Given the description of an element on the screen output the (x, y) to click on. 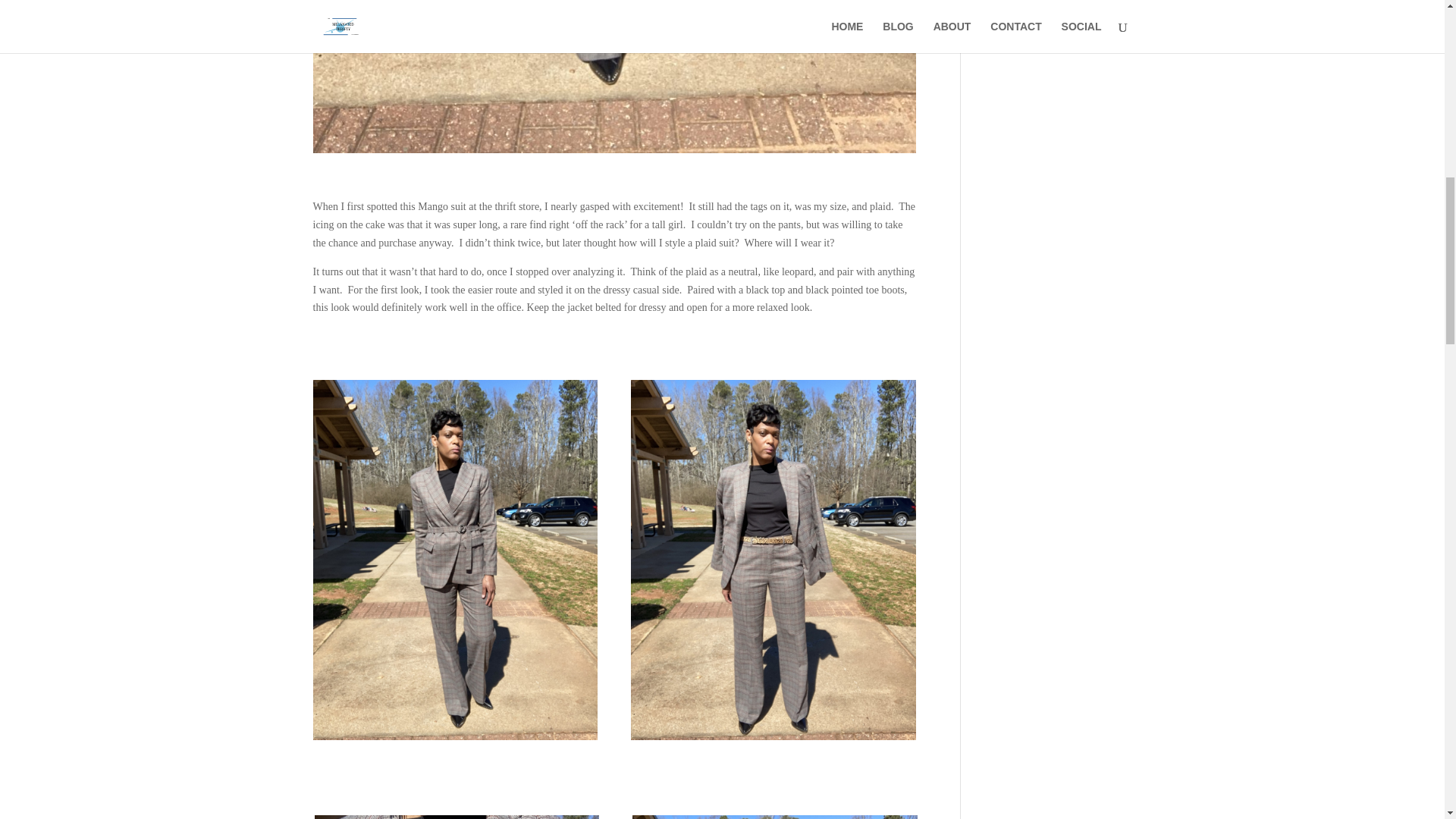
close up of plaid suit with leopard belt (456, 816)
woman posing in plaid suit, belted (454, 739)
woman posing in plaid suit with leopard belt (772, 739)
